Given the description of an element on the screen output the (x, y) to click on. 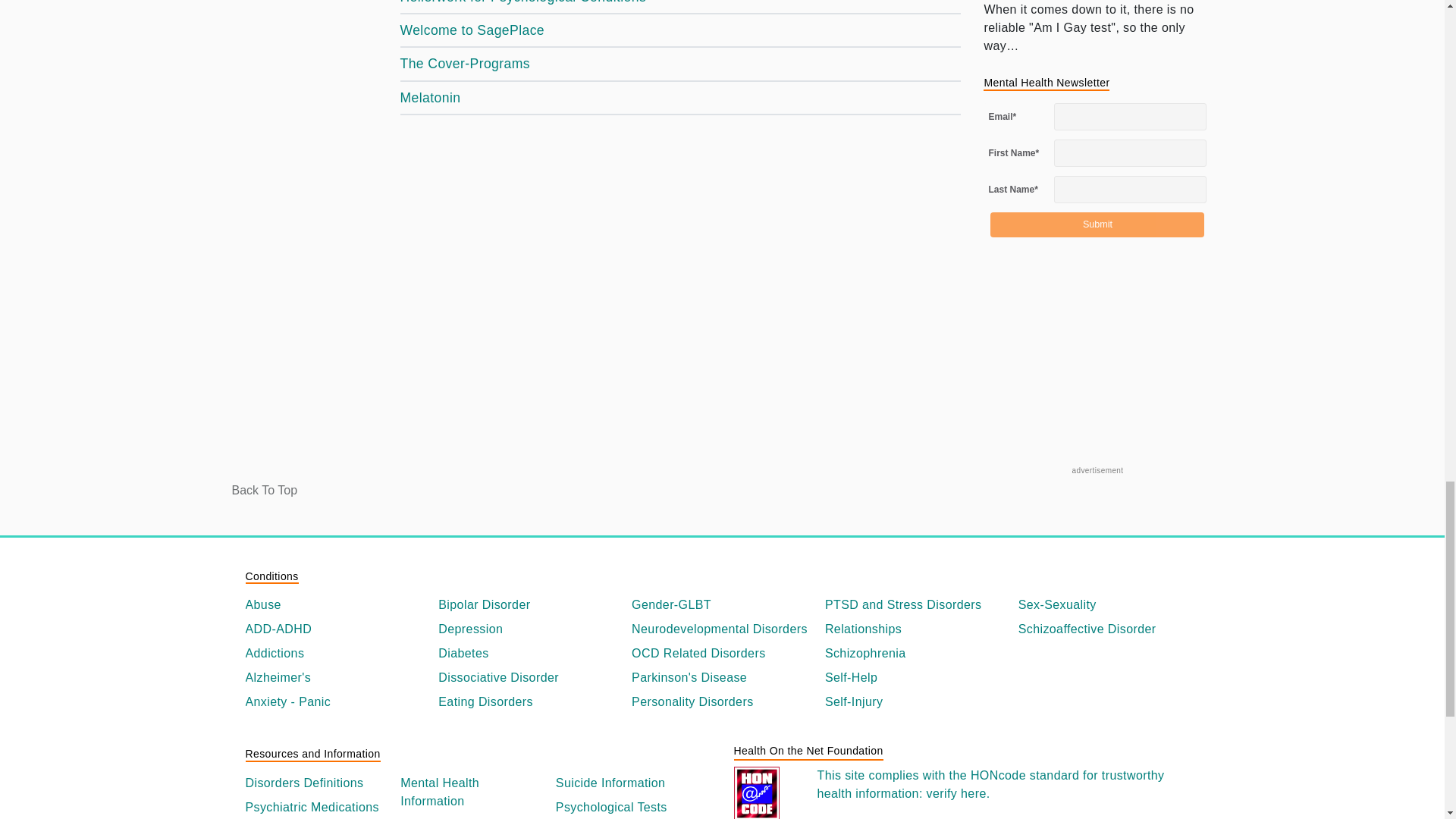
Parkinson's Disease Information Articles (721, 678)
Submit (1097, 224)
